Given the description of an element on the screen output the (x, y) to click on. 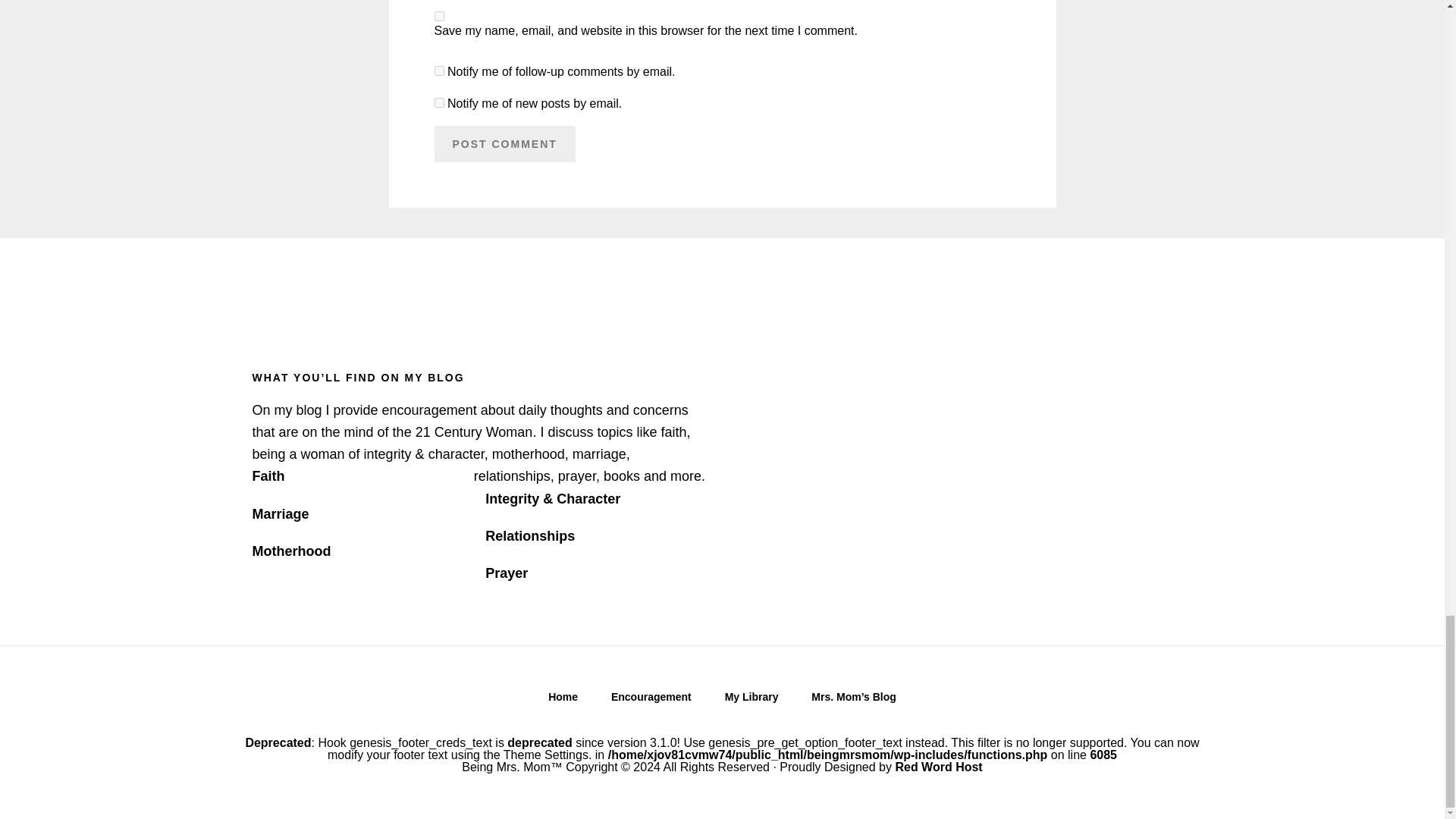
yes (438, 16)
Post Comment (504, 144)
Relationships (529, 535)
Motherhood (290, 550)
Home (562, 700)
Marriage (279, 513)
Prayer (505, 572)
Encouragement (650, 700)
My Library (751, 700)
Faith (267, 476)
